Given the description of an element on the screen output the (x, y) to click on. 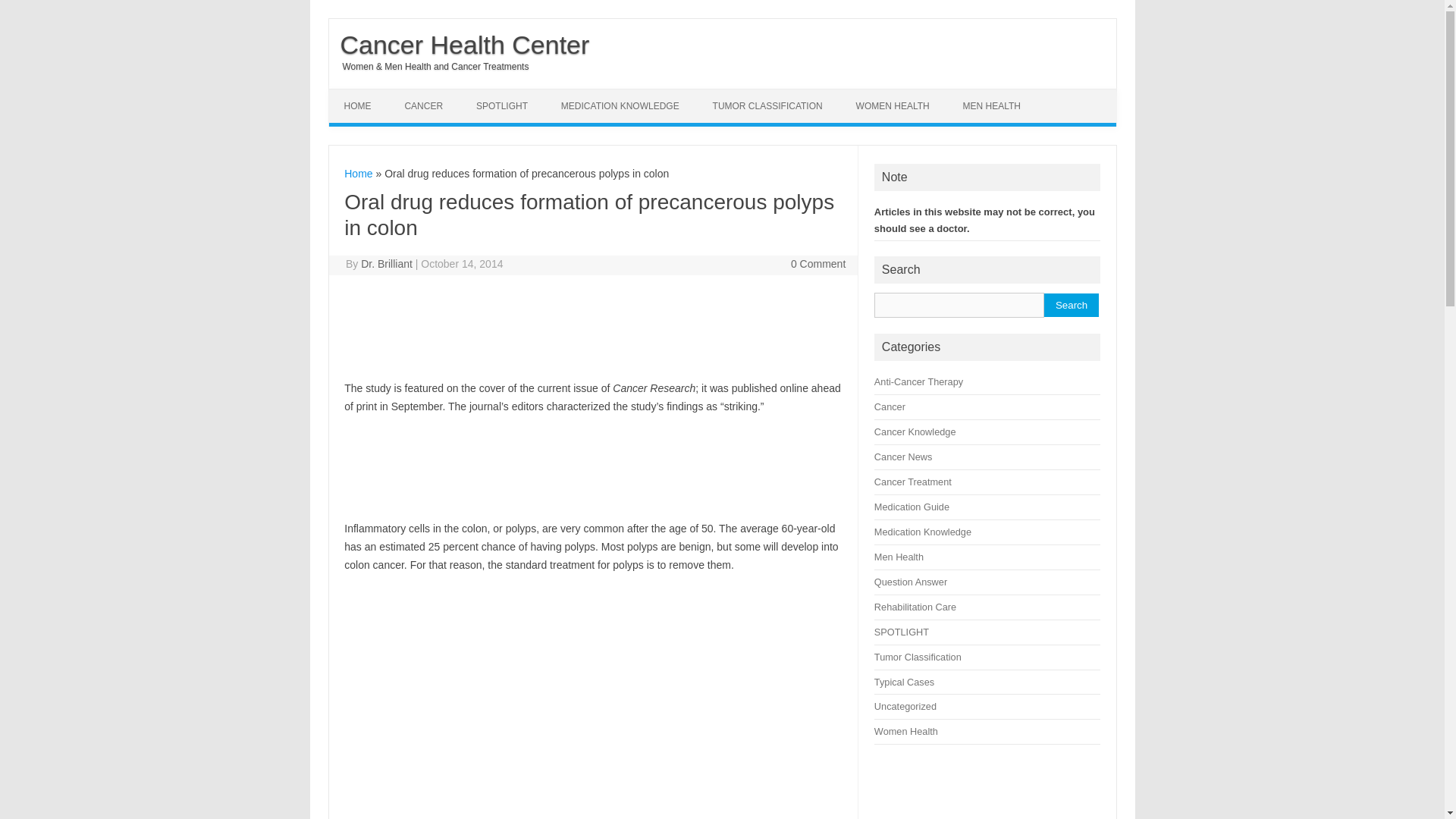
Cancer (890, 406)
CANCER (423, 105)
SPOTLIGHT (502, 105)
MEN HEALTH (991, 105)
Skip to content (363, 93)
Skip to content (363, 93)
Medication Guide (912, 506)
Advertisement (419, 464)
Posts by Dr. Brilliant (386, 263)
Cancer Knowledge (915, 431)
Dr. Brilliant (386, 263)
Anti-Cancer Therapy (918, 381)
MEDICATION KNOWLEDGE (620, 105)
WOMEN HEALTH (892, 105)
Cancer Health Center (459, 44)
